Given the description of an element on the screen output the (x, y) to click on. 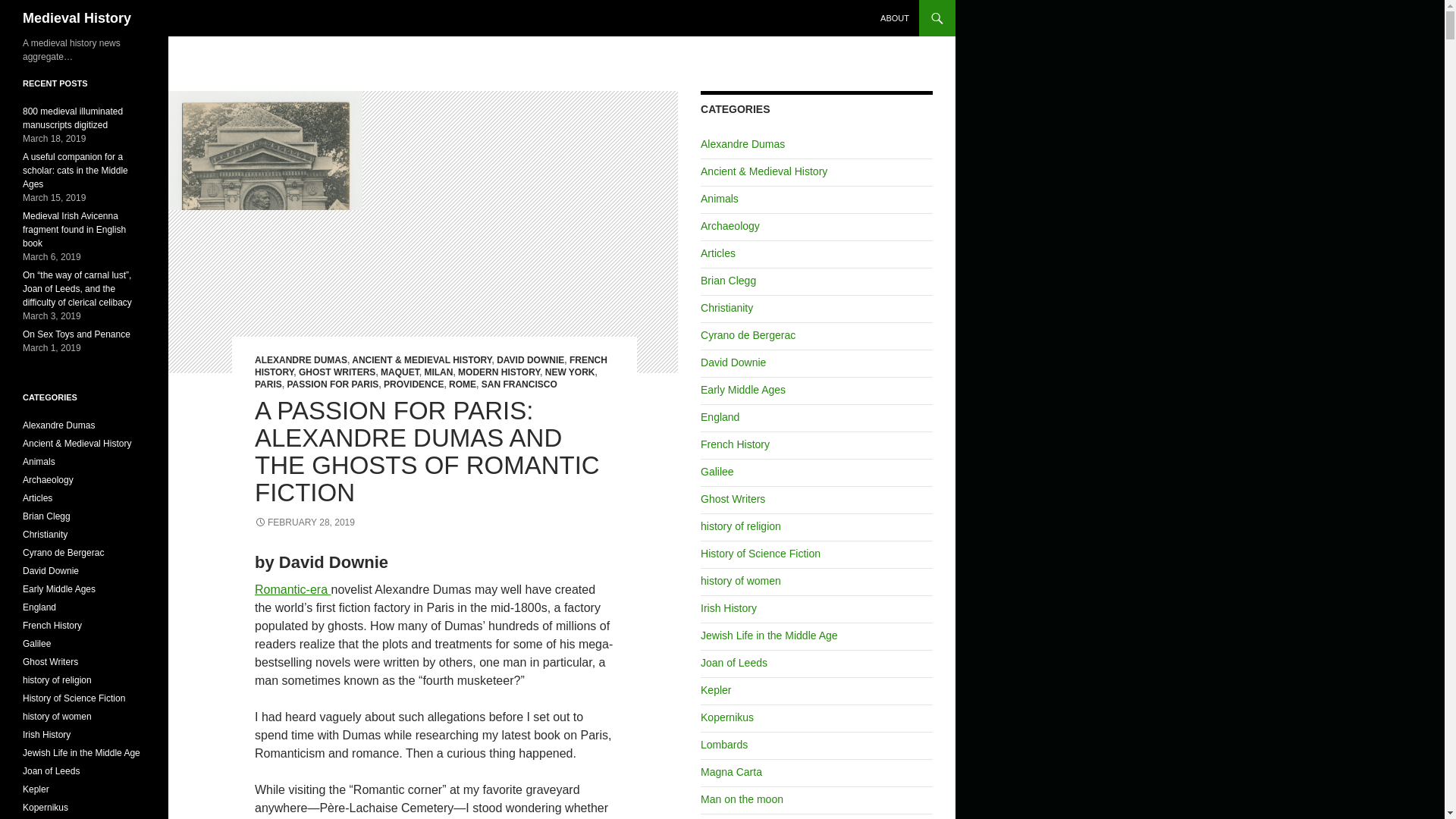
Auto Added by WPeMatico (716, 471)
Auto Added by WPeMatico (763, 171)
Romantic-era (292, 589)
ALEXANDRE DUMAS (300, 359)
FEBRUARY 28, 2019 (304, 521)
MODERN HISTORY (499, 371)
MILAN (437, 371)
ABOUT (894, 18)
DAVID DOWNIE (530, 359)
ROME (462, 384)
Auto Added by WPeMatico (717, 253)
FRENCH HISTORY (430, 365)
Auto Added by WPeMatico (727, 280)
Auto Added by WPeMatico (719, 417)
